Given the description of an element on the screen output the (x, y) to click on. 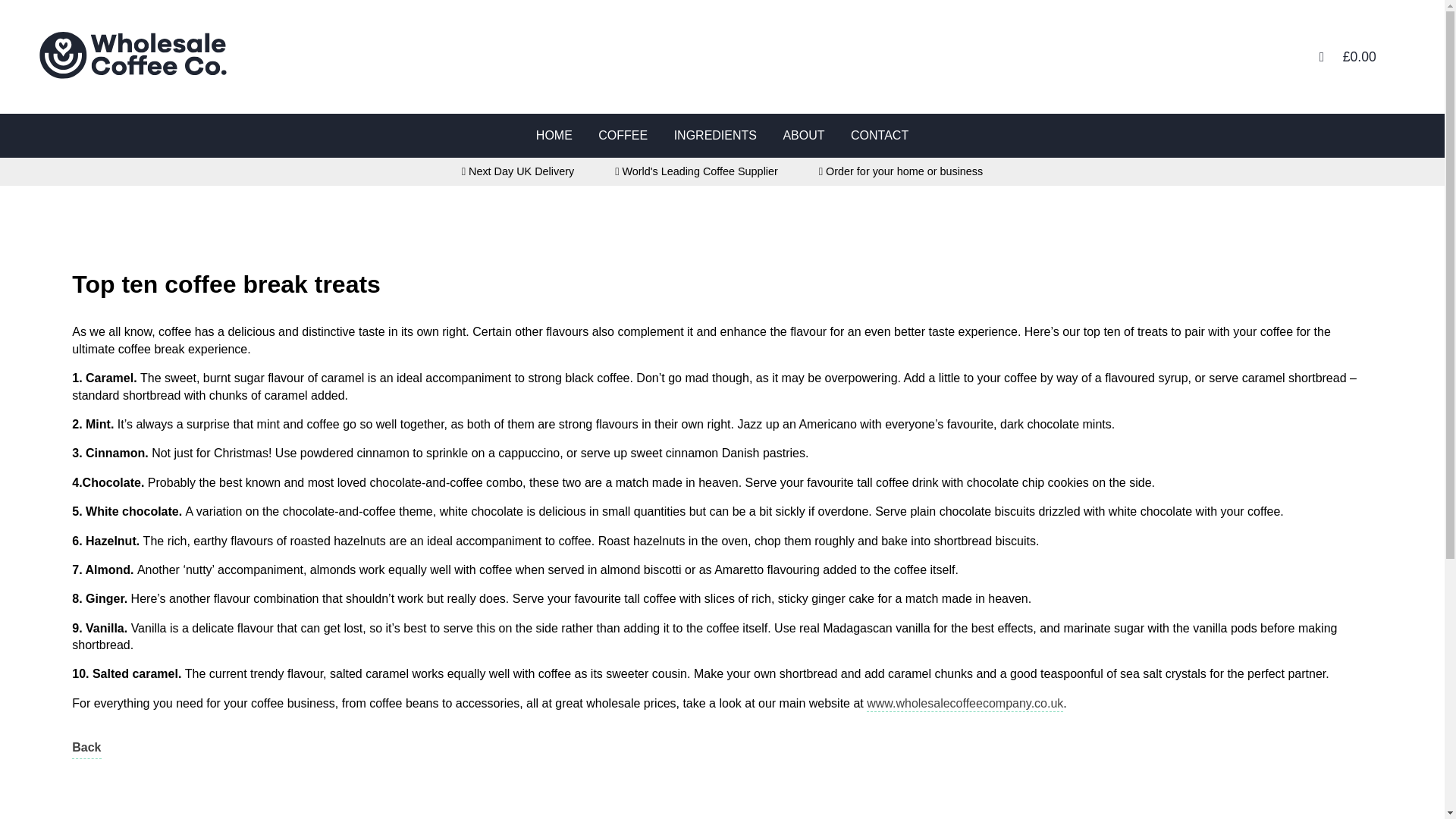
CONTACT (880, 134)
HOME (553, 134)
ABOUT (803, 134)
View your shopping cart (1358, 56)
COFFEE (622, 134)
Back (85, 748)
INGREDIENTS (715, 134)
www.wholesalecoffeecompany.co.uk (964, 703)
